Given the description of an element on the screen output the (x, y) to click on. 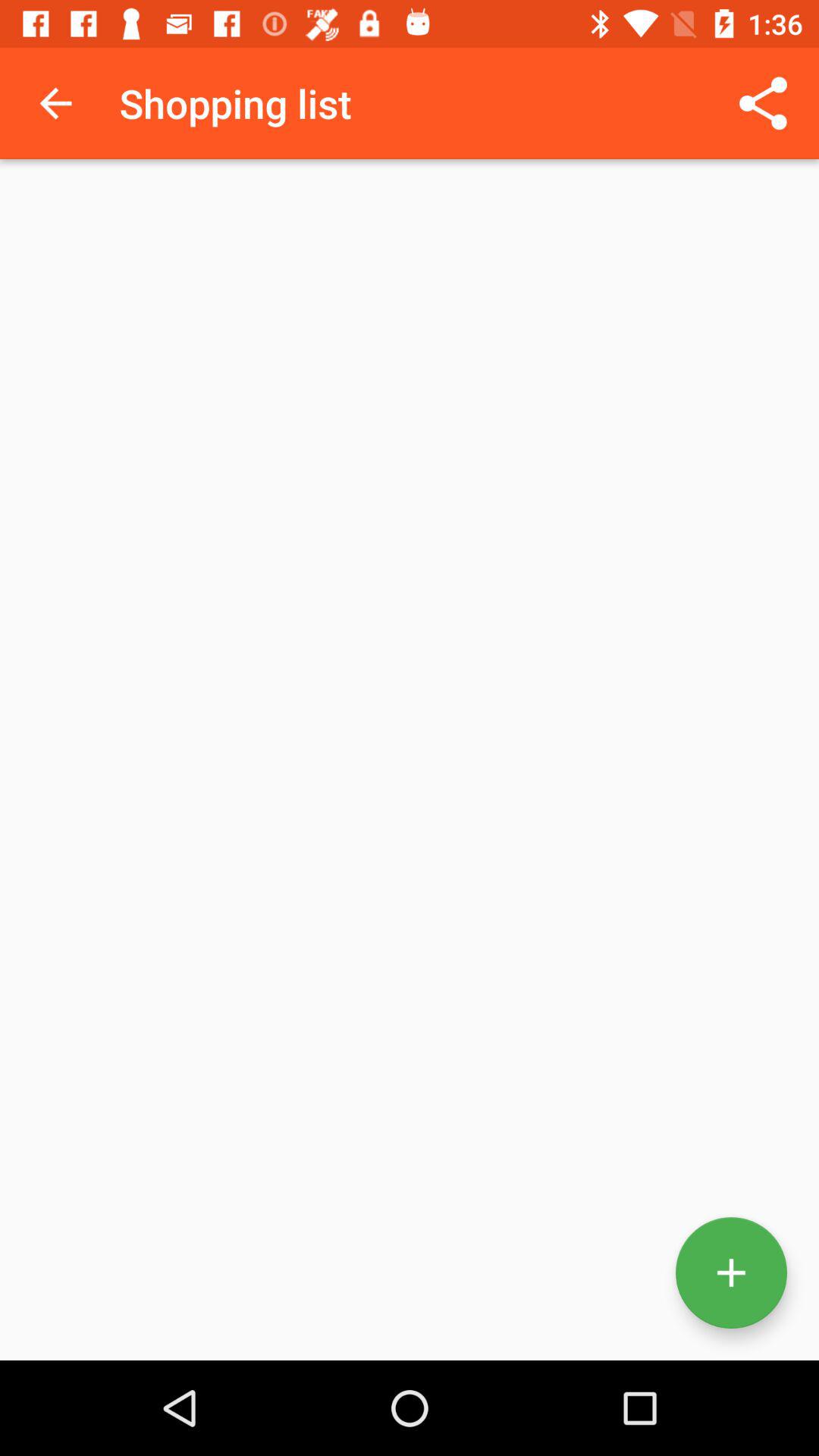
turn on item next to shopping list item (55, 103)
